Given the description of an element on the screen output the (x, y) to click on. 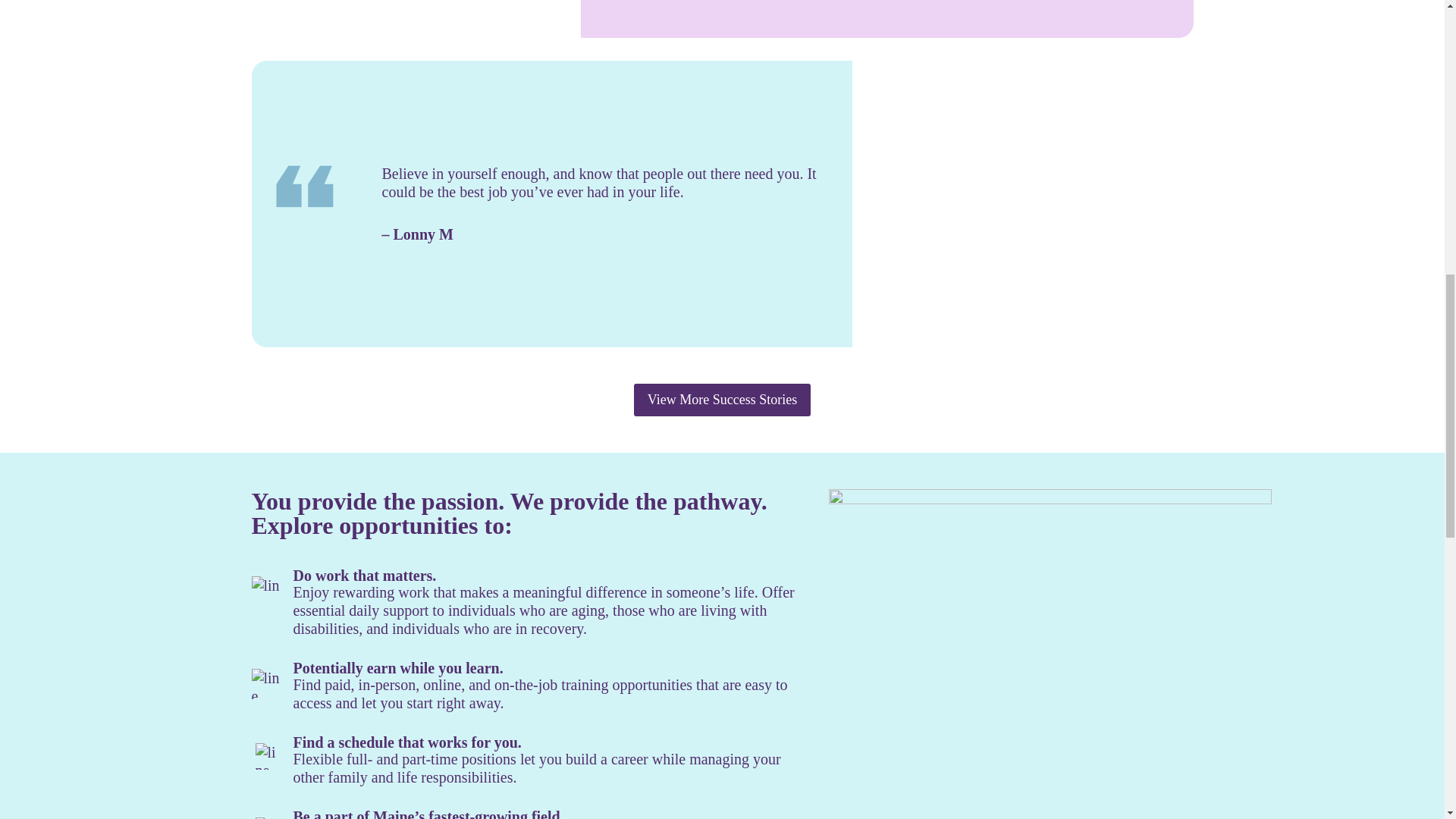
View More Success Stories (721, 400)
